Given the description of an element on the screen output the (x, y) to click on. 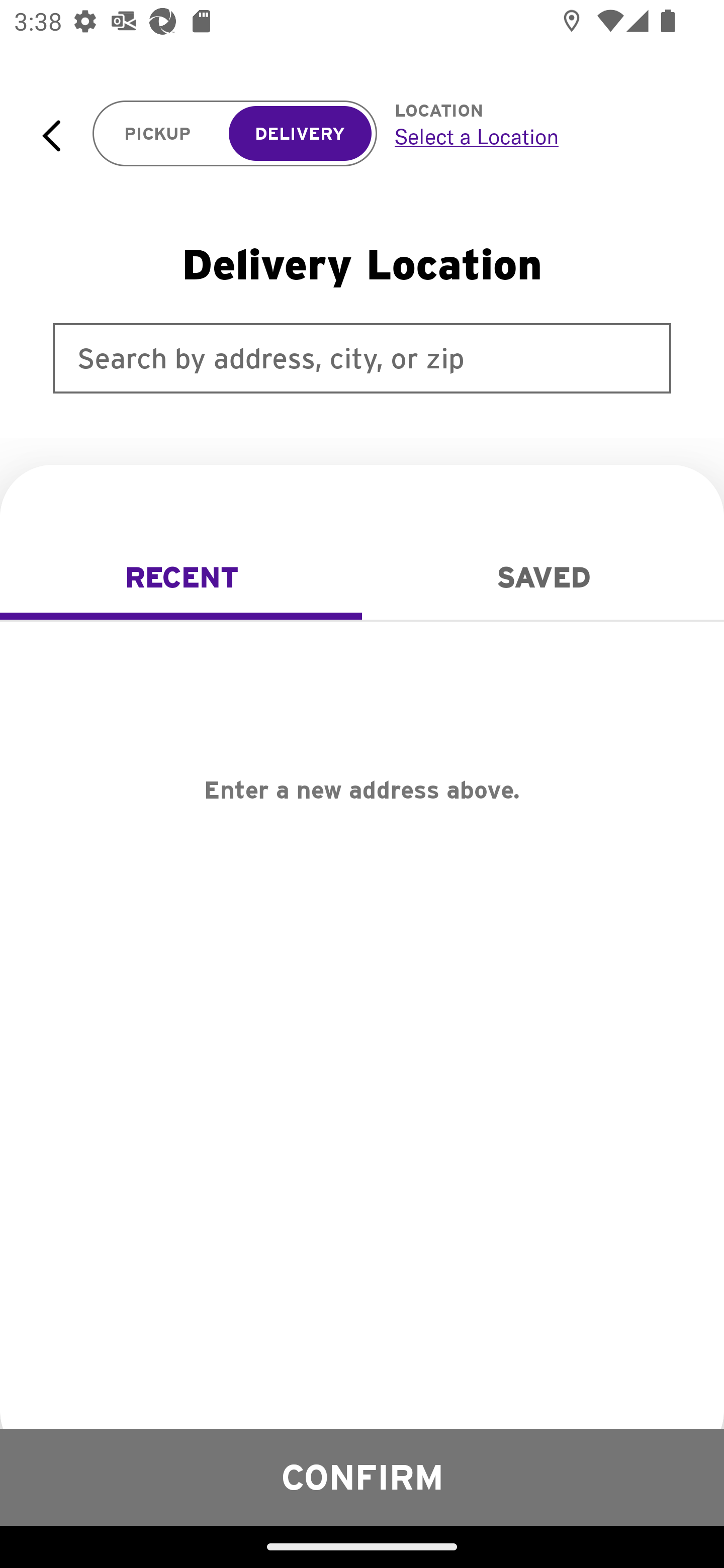
PICKUP (157, 133)
DELIVERY (299, 133)
Select a Location (536, 136)
Search by address, city, or zip (361, 358)
Saved SAVED (543, 576)
CONFIRM (362, 1476)
